Given the description of an element on the screen output the (x, y) to click on. 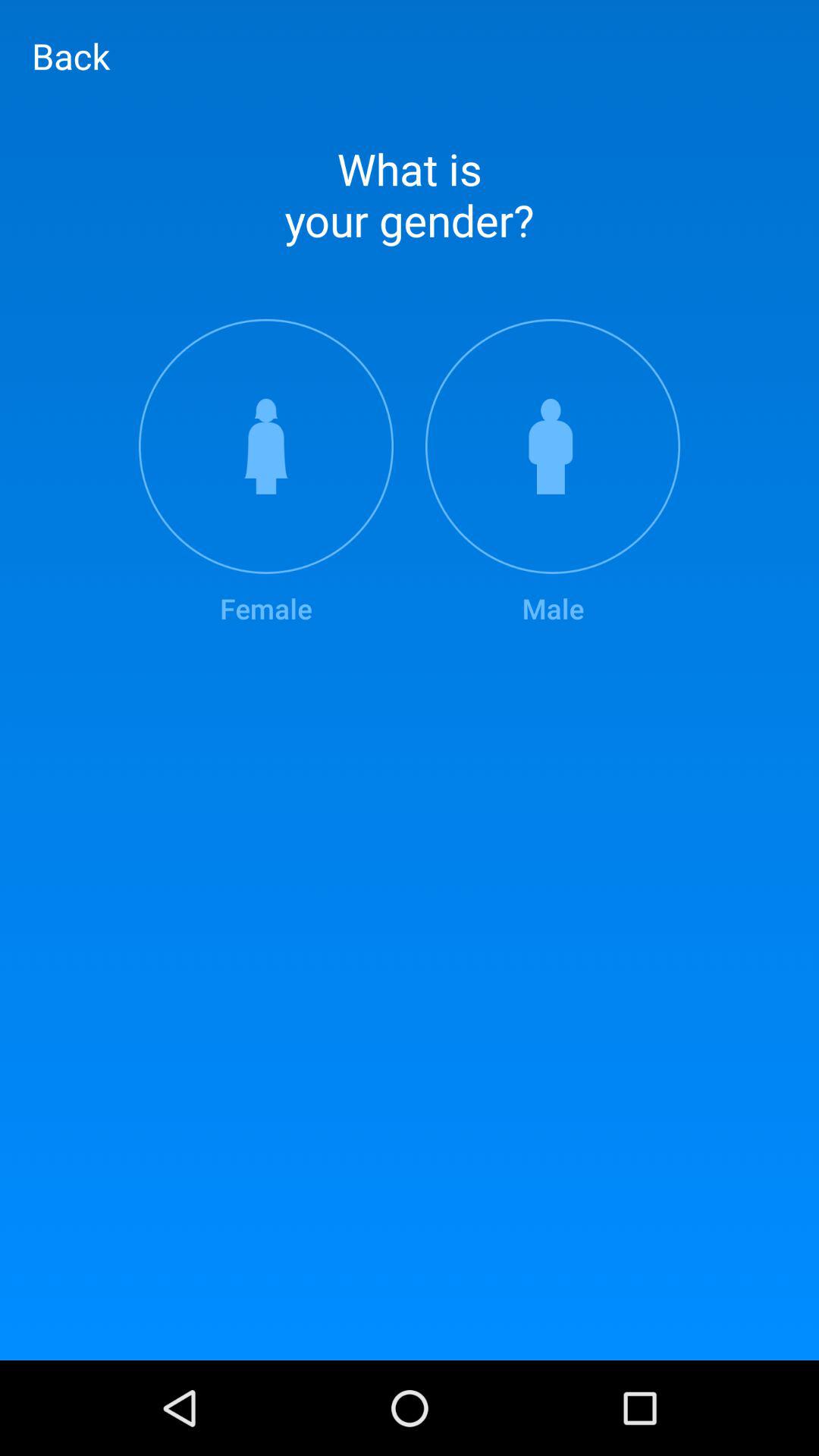
flip until the male (552, 473)
